Given the description of an element on the screen output the (x, y) to click on. 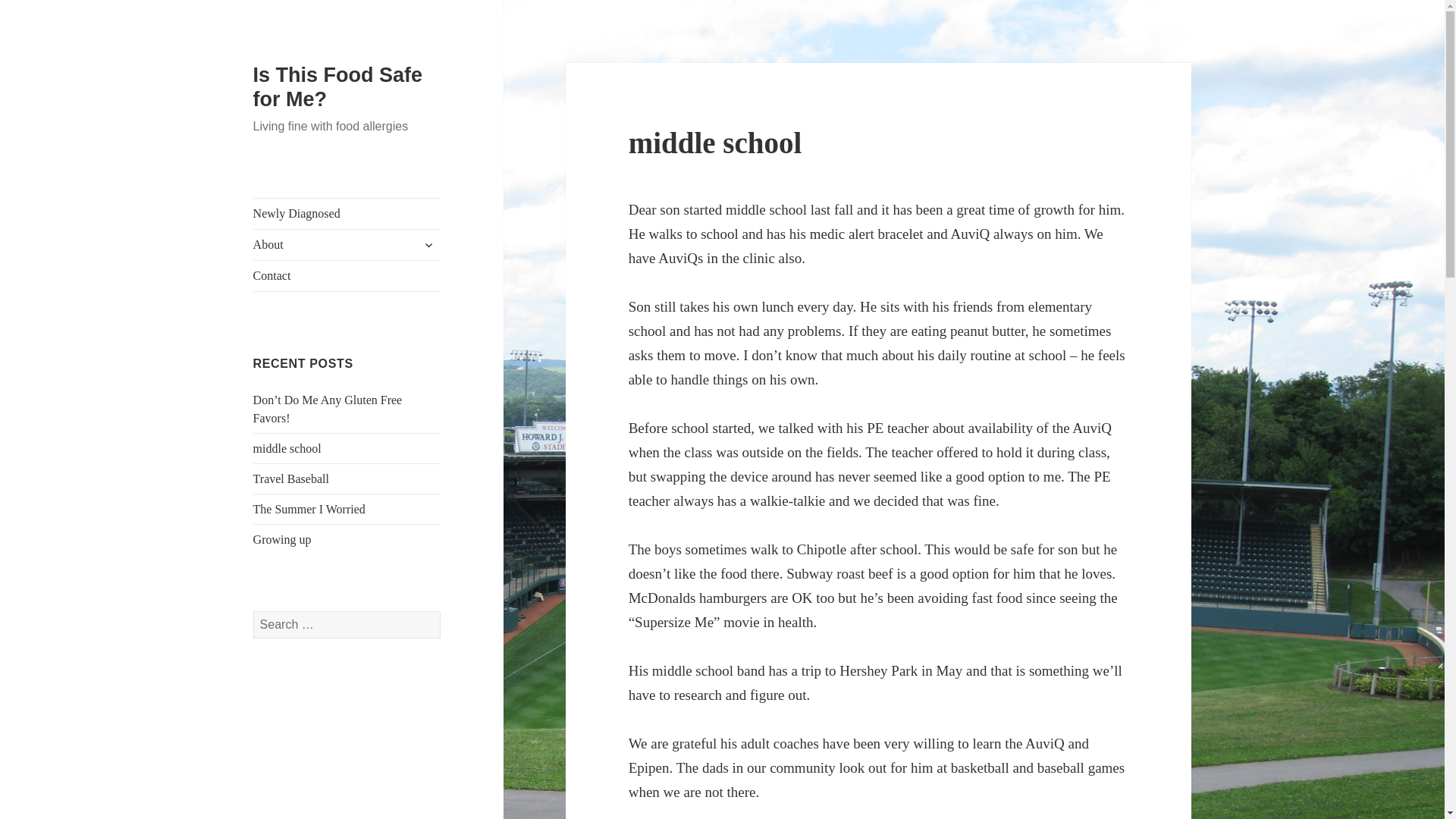
Newly Diagnosed (347, 214)
Travel Baseball (291, 478)
Is This Food Safe for Me? (338, 86)
Growing up (282, 539)
Contact (347, 276)
expand child menu (428, 244)
The Summer I Worried (309, 508)
middle school (287, 448)
About (347, 245)
